Given the description of an element on the screen output the (x, y) to click on. 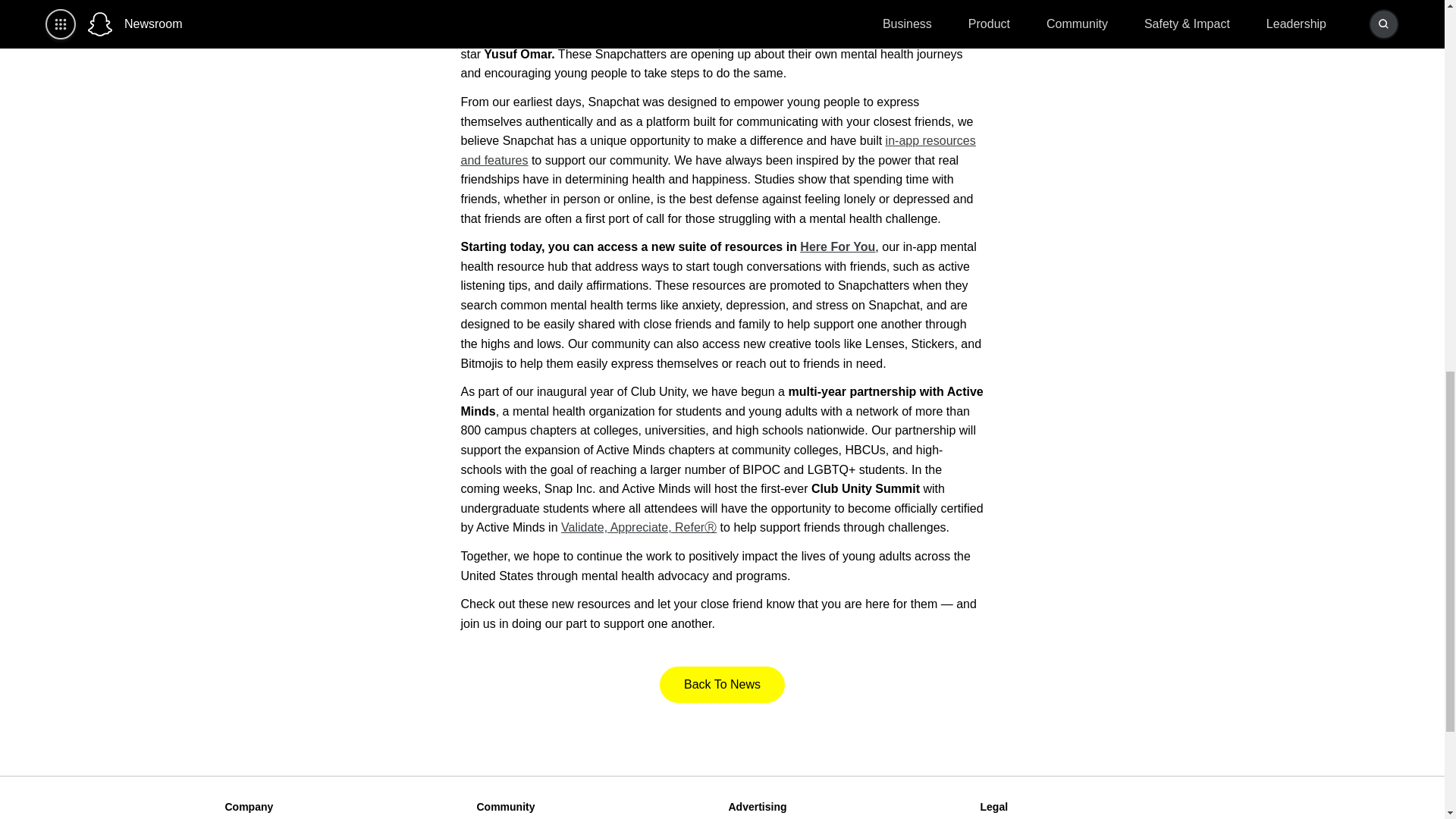
Back To News (721, 684)
in-app resources and features (718, 150)
Here For You (837, 246)
